Given the description of an element on the screen output the (x, y) to click on. 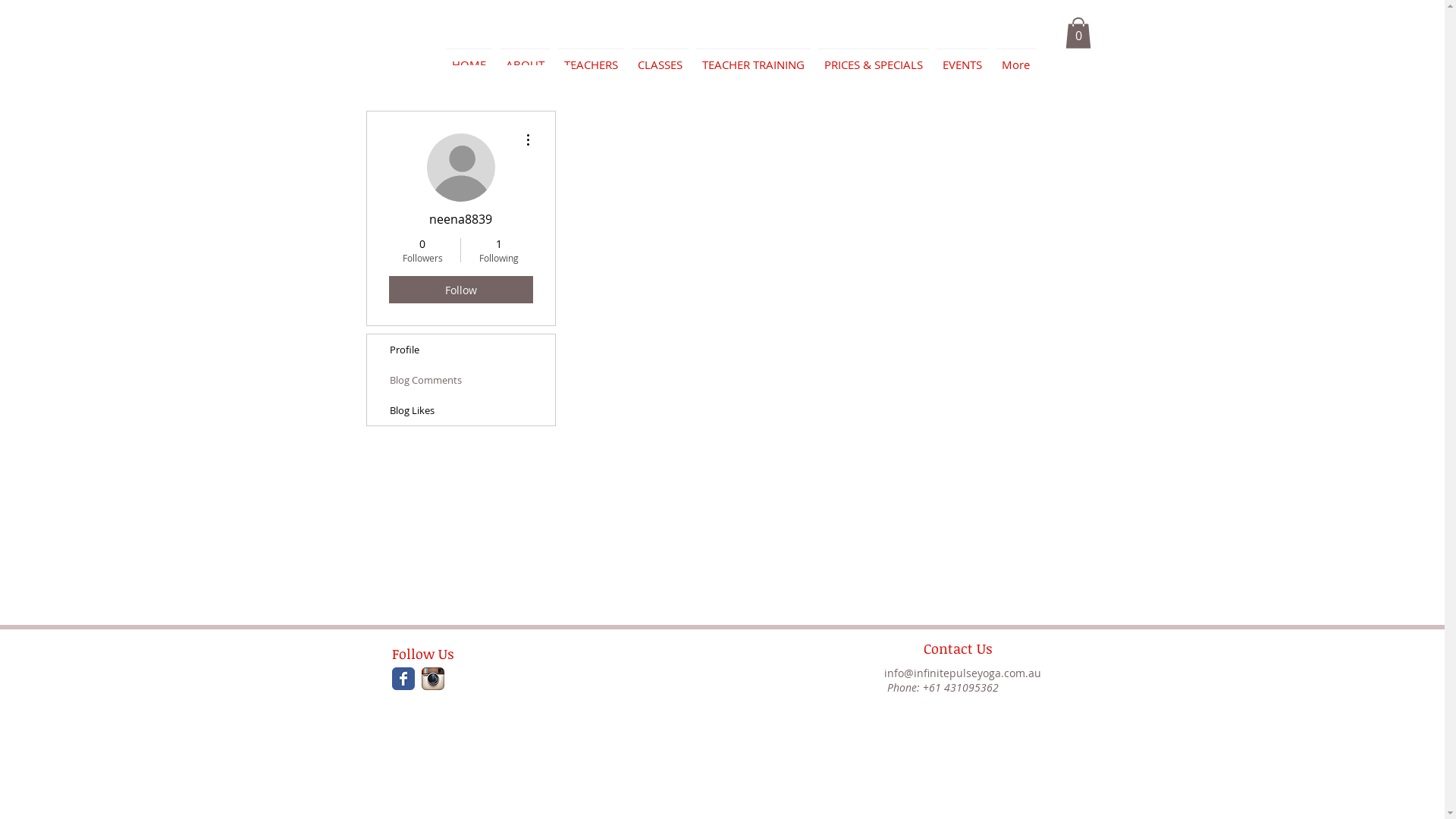
CLASSES Element type: text (659, 57)
HOME Element type: text (468, 57)
Blog Comments Element type: text (461, 379)
1
Following Element type: text (499, 249)
0 Element type: text (1077, 32)
Profile Element type: text (461, 349)
PRICES & SPECIALS Element type: text (873, 57)
TEACHERS Element type: text (590, 57)
Follow Element type: text (460, 289)
TEACHER TRAINING Element type: text (752, 57)
0
Followers Element type: text (421, 249)
Blog Likes Element type: text (461, 410)
info@infinitepulseyoga.com.au Element type: text (962, 672)
ABOUT Element type: text (524, 57)
EVENTS Element type: text (961, 57)
